Given the description of an element on the screen output the (x, y) to click on. 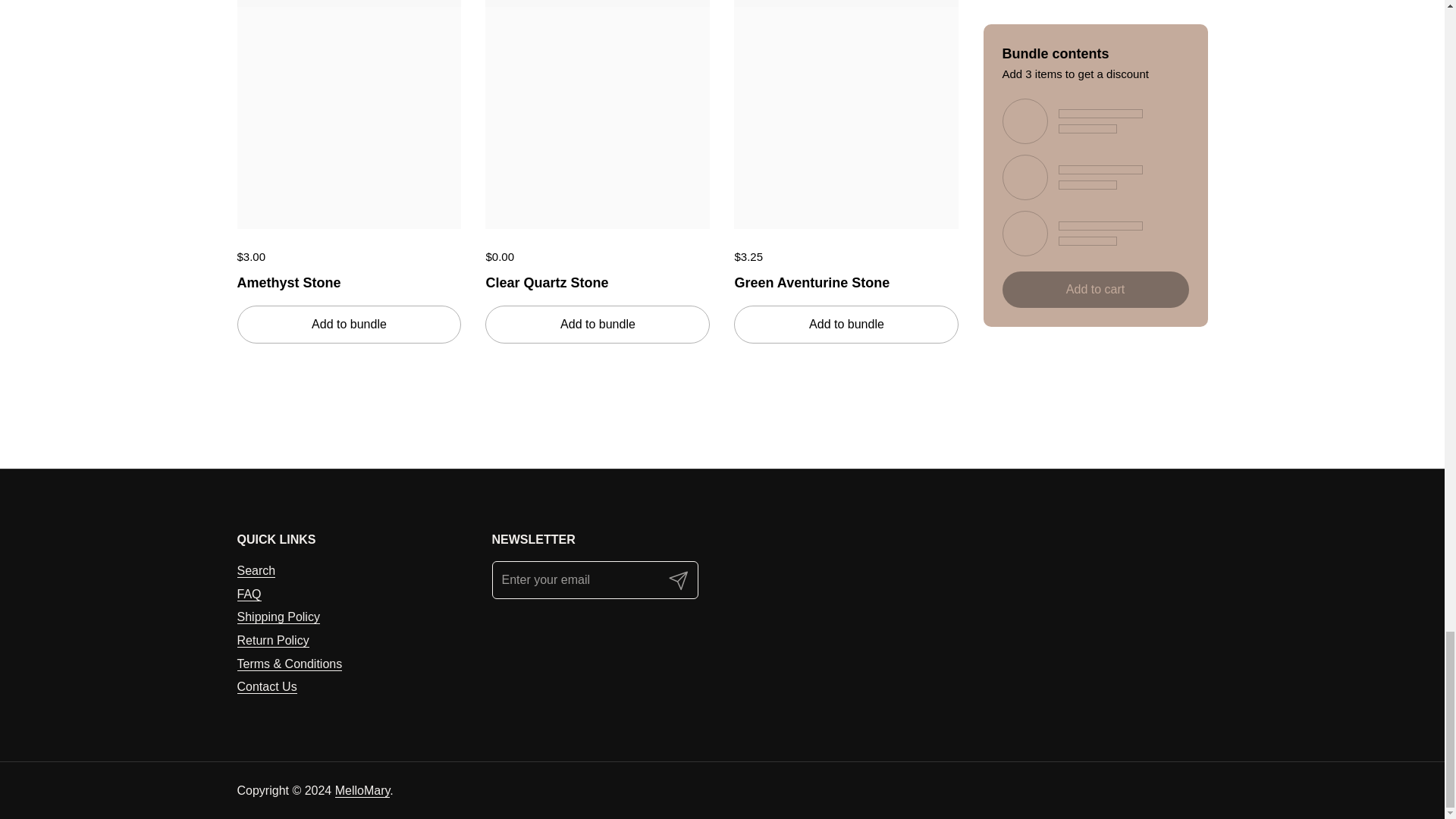
Green Aventurine Stone (845, 279)
Amethyst Stone (348, 279)
Clear Quartz Stone (597, 279)
